Given the description of an element on the screen output the (x, y) to click on. 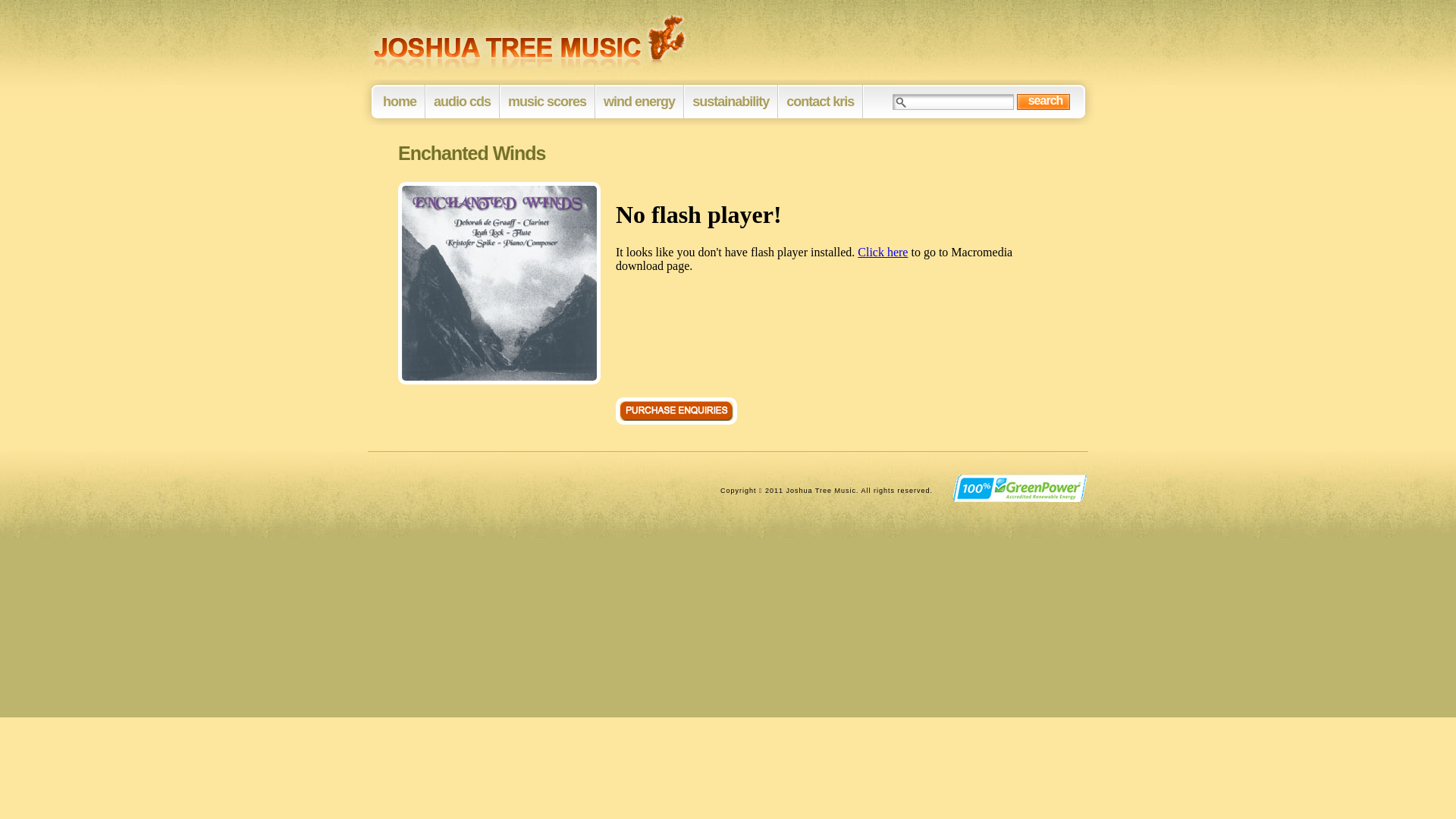
sustainability Element type: text (731, 101)
music scores Element type: text (548, 101)
audio cds Element type: text (463, 101)
wind energy Element type: text (640, 101)
home Element type: text (400, 101)
contact kris Element type: text (820, 101)
search Element type: text (1044, 100)
